Given the description of an element on the screen output the (x, y) to click on. 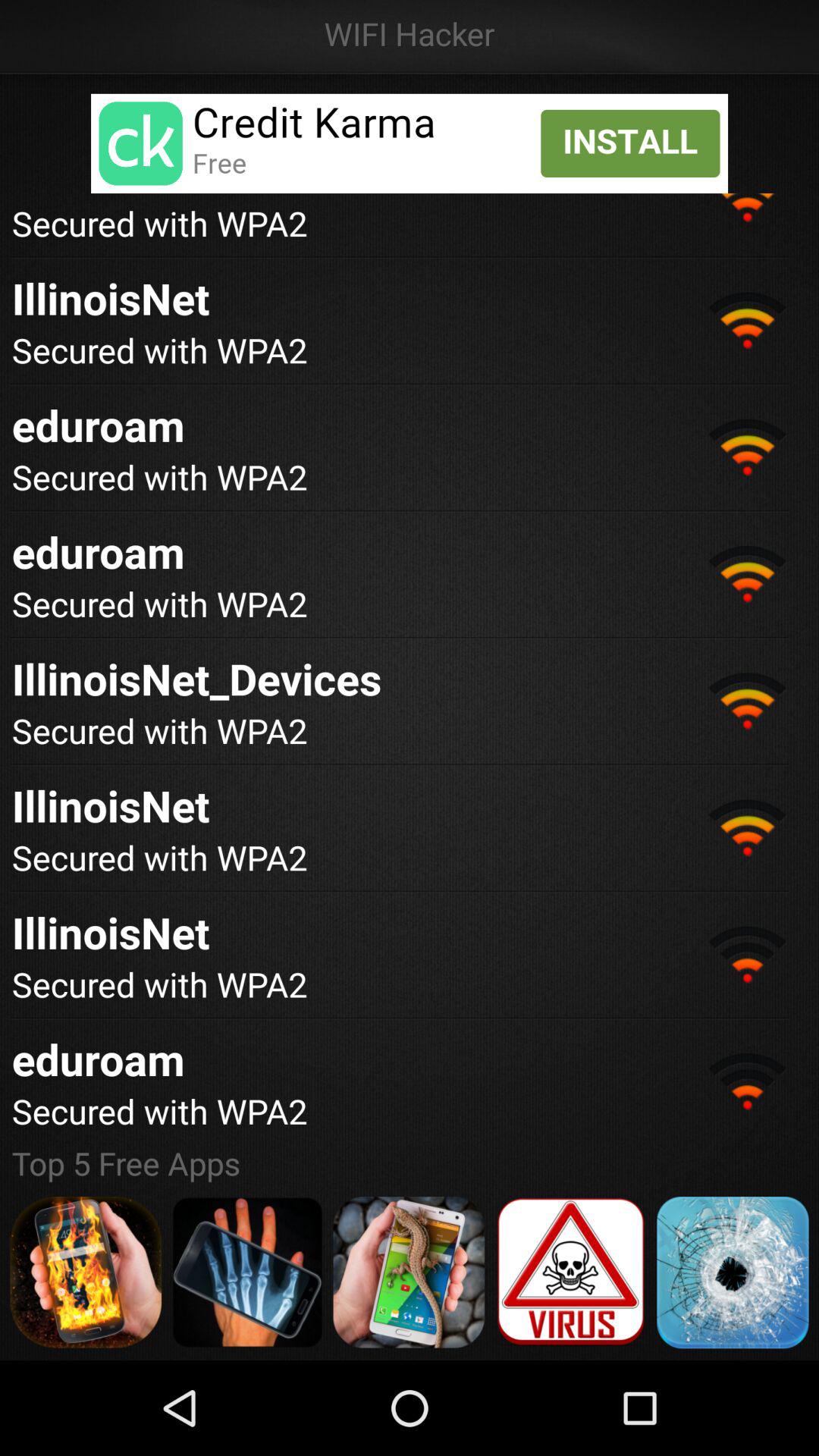
advertisement space for other games (408, 1271)
